Given the description of an element on the screen output the (x, y) to click on. 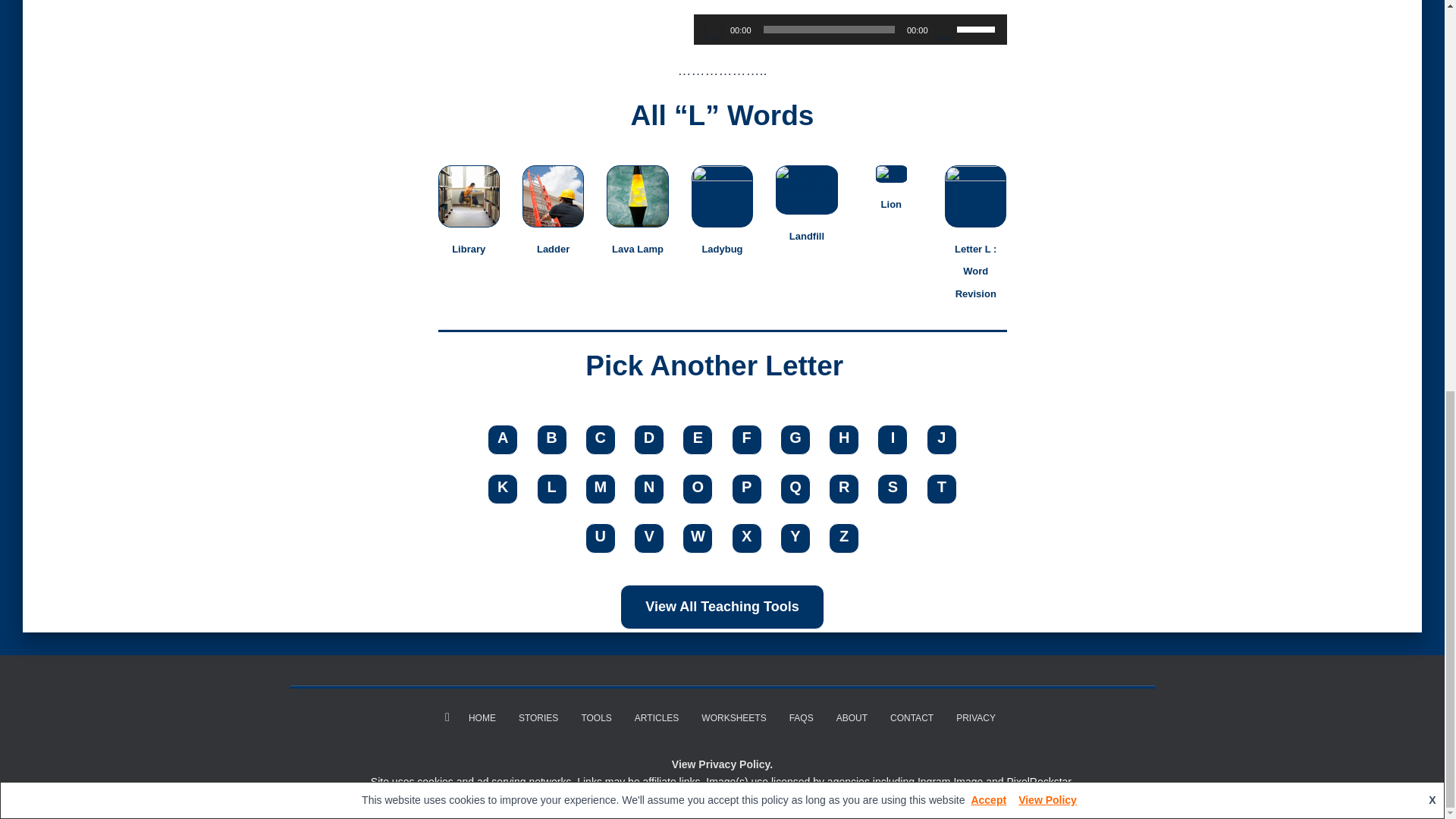
Library (467, 247)
Lava Lamp (637, 247)
Ladybug (721, 247)
Landfill (806, 235)
Ladder (553, 247)
